Given the description of an element on the screen output the (x, y) to click on. 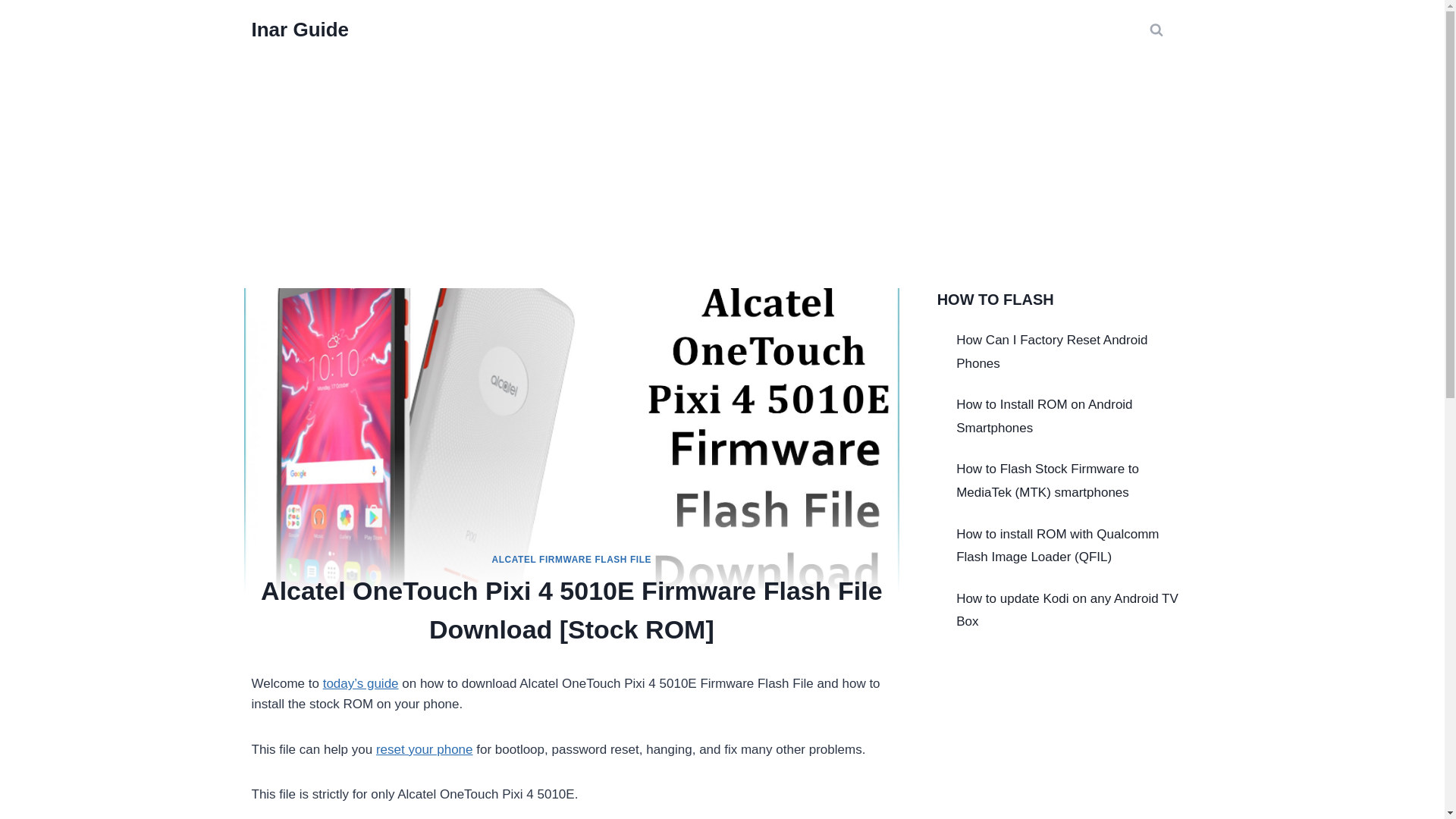
How to update Kodi on any Android TV Box (1066, 610)
ALCATEL FIRMWARE FLASH FILE (571, 559)
How Can I Factory Reset Android Phones (1051, 351)
Inar Guide (300, 29)
reset your phone (424, 749)
How to Install ROM on Android Smartphones (1044, 415)
